Given the description of an element on the screen output the (x, y) to click on. 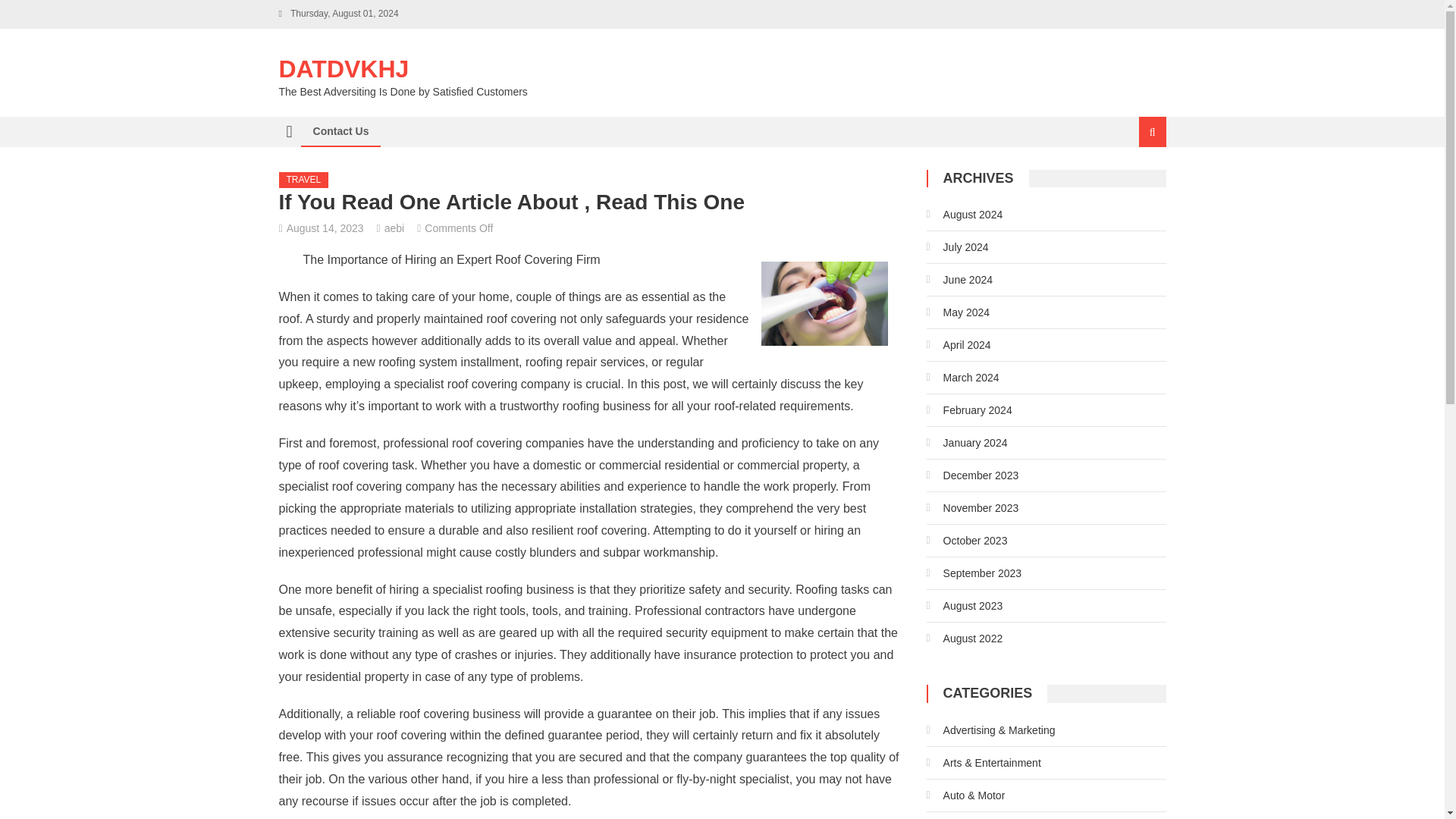
March 2024 (962, 377)
TRAVEL (304, 180)
May 2024 (958, 312)
August 14, 2023 (325, 227)
DATDVKHJ (344, 68)
April 2024 (958, 344)
June 2024 (959, 279)
Contact Us (340, 131)
July 2024 (957, 247)
Search (1133, 182)
August 2024 (964, 214)
February 2024 (968, 410)
aebi (394, 227)
